Given the description of an element on the screen output the (x, y) to click on. 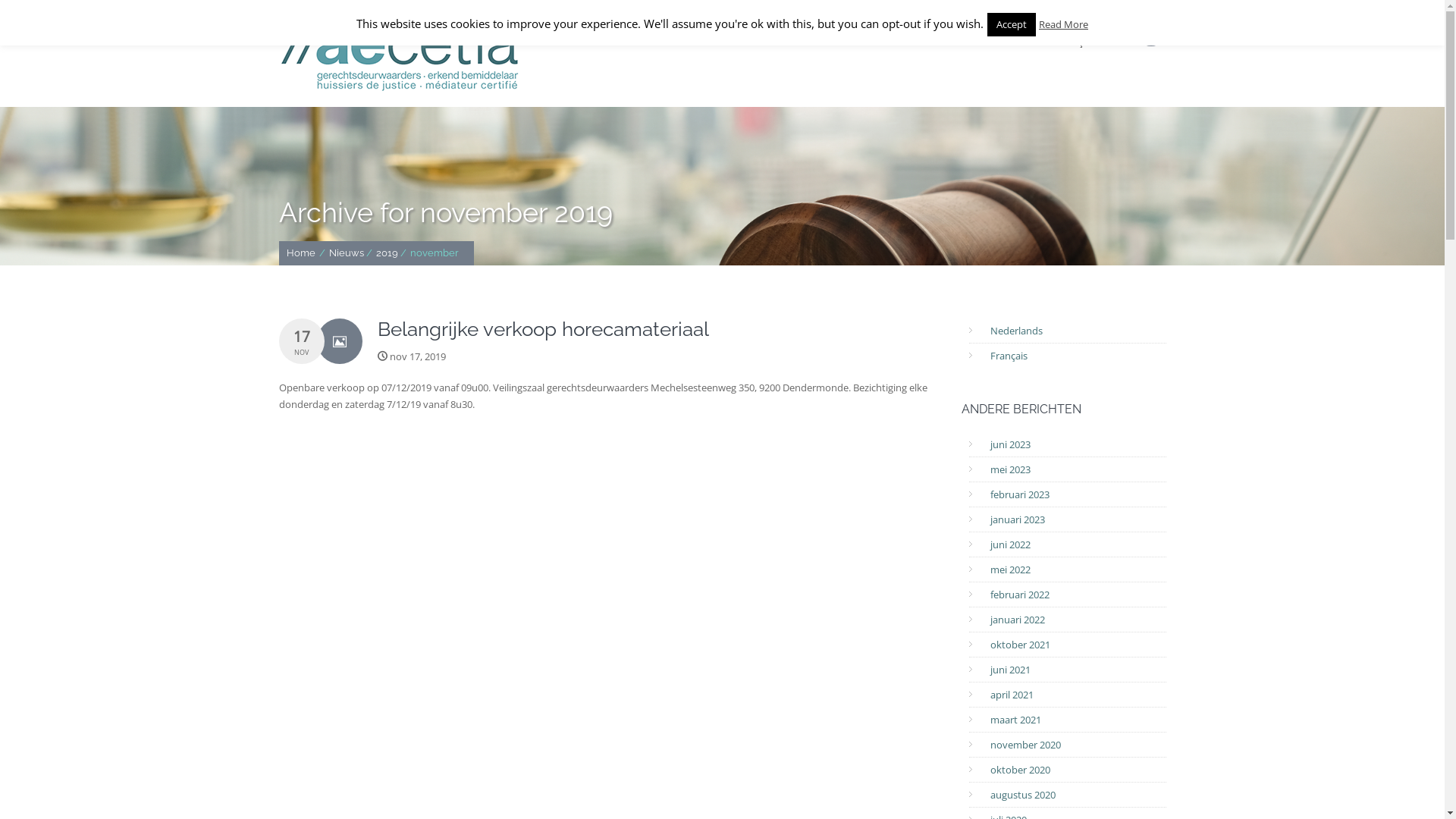
ONZE DIENSTEN Element type: text (842, 41)
2019 Element type: text (387, 252)
januari 2023 Element type: text (1017, 519)
NIEUWS Element type: text (928, 41)
juni 2023 Element type: text (1010, 444)
Nieuws Element type: text (346, 252)
februari 2022 Element type: text (1019, 594)
juni 2022 Element type: text (1010, 544)
november 2020 Element type: text (1025, 744)
Read More Element type: text (1063, 24)
Home Element type: text (300, 252)
januari 2022 Element type: text (1017, 619)
Nederlands Element type: text (1016, 330)
CONTACT Element type: text (1000, 41)
mei 2022 Element type: text (1010, 569)
OVER AECETIA Element type: text (624, 41)
oktober 2021 Element type: text (1020, 644)
Accept Element type: text (1011, 24)
mei 2023 Element type: text (1010, 469)
Belangrijke verkoop horecamateriaal Element type: text (657, 328)
augustus 2020 Element type: text (1022, 794)
maart 2021 Element type: text (1015, 719)
februari 2023 Element type: text (1019, 494)
oktober 2020 Element type: text (1020, 769)
BRIEF ONTVANGEN Element type: text (730, 41)
april 2021 Element type: text (1011, 694)
juni 2021 Element type: text (1010, 669)
